Given the description of an element on the screen output the (x, y) to click on. 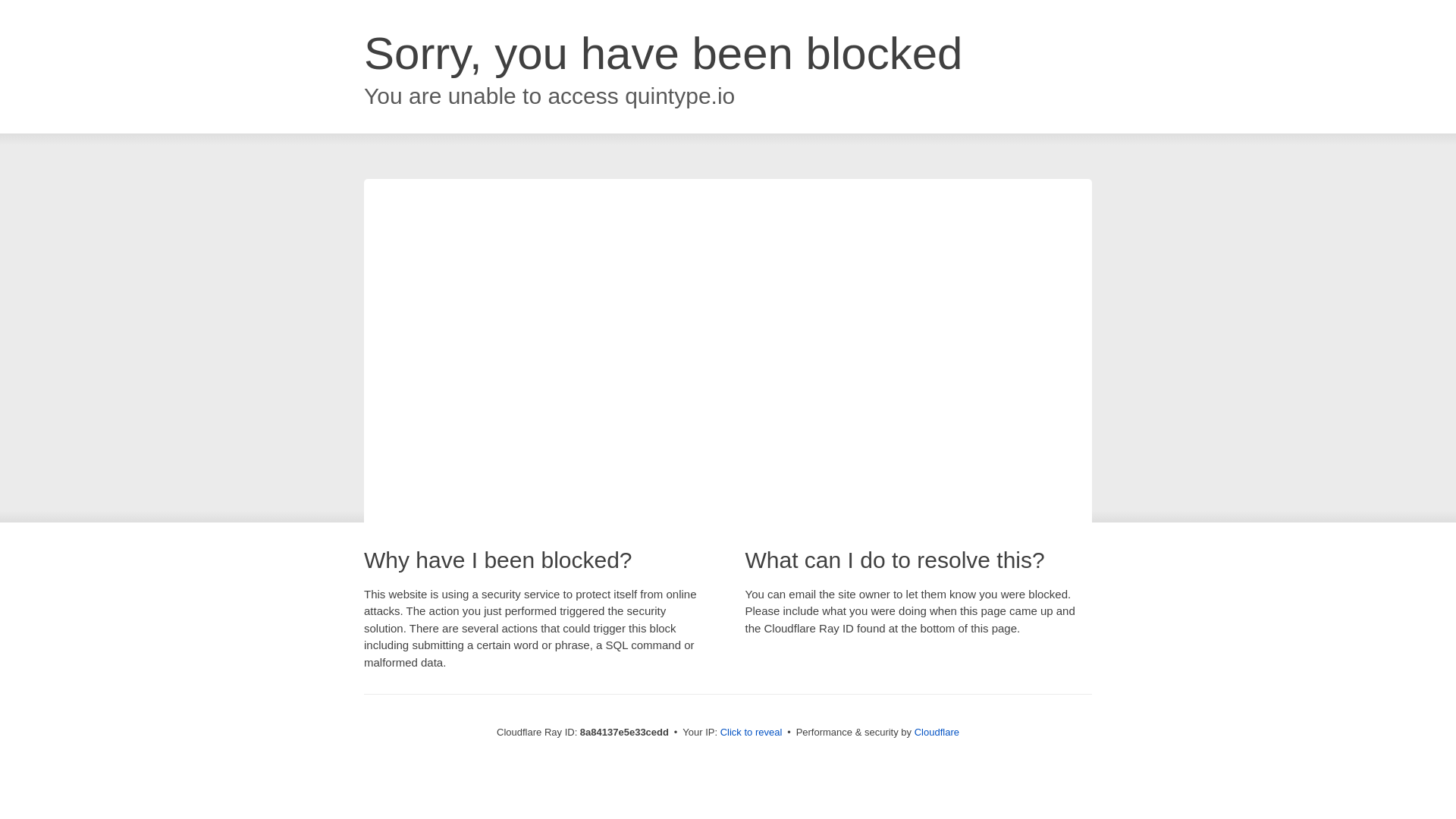
Click to reveal (751, 732)
Cloudflare (936, 731)
